Given the description of an element on the screen output the (x, y) to click on. 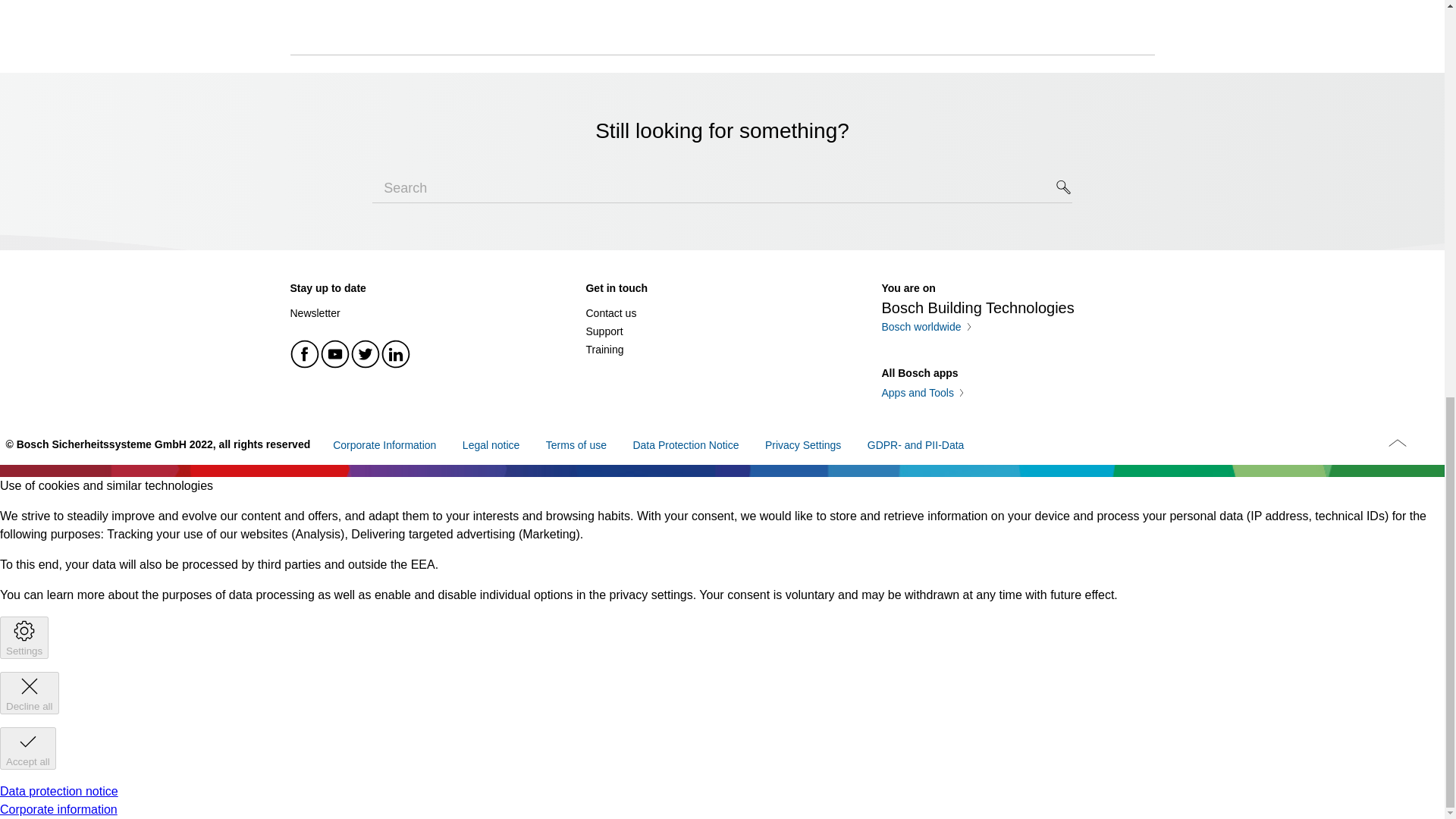
Twitter (365, 354)
Facebook (304, 354)
Icon search (1064, 186)
Icon up (1397, 443)
Youtube (335, 354)
Linkedin (395, 354)
